Given the description of an element on the screen output the (x, y) to click on. 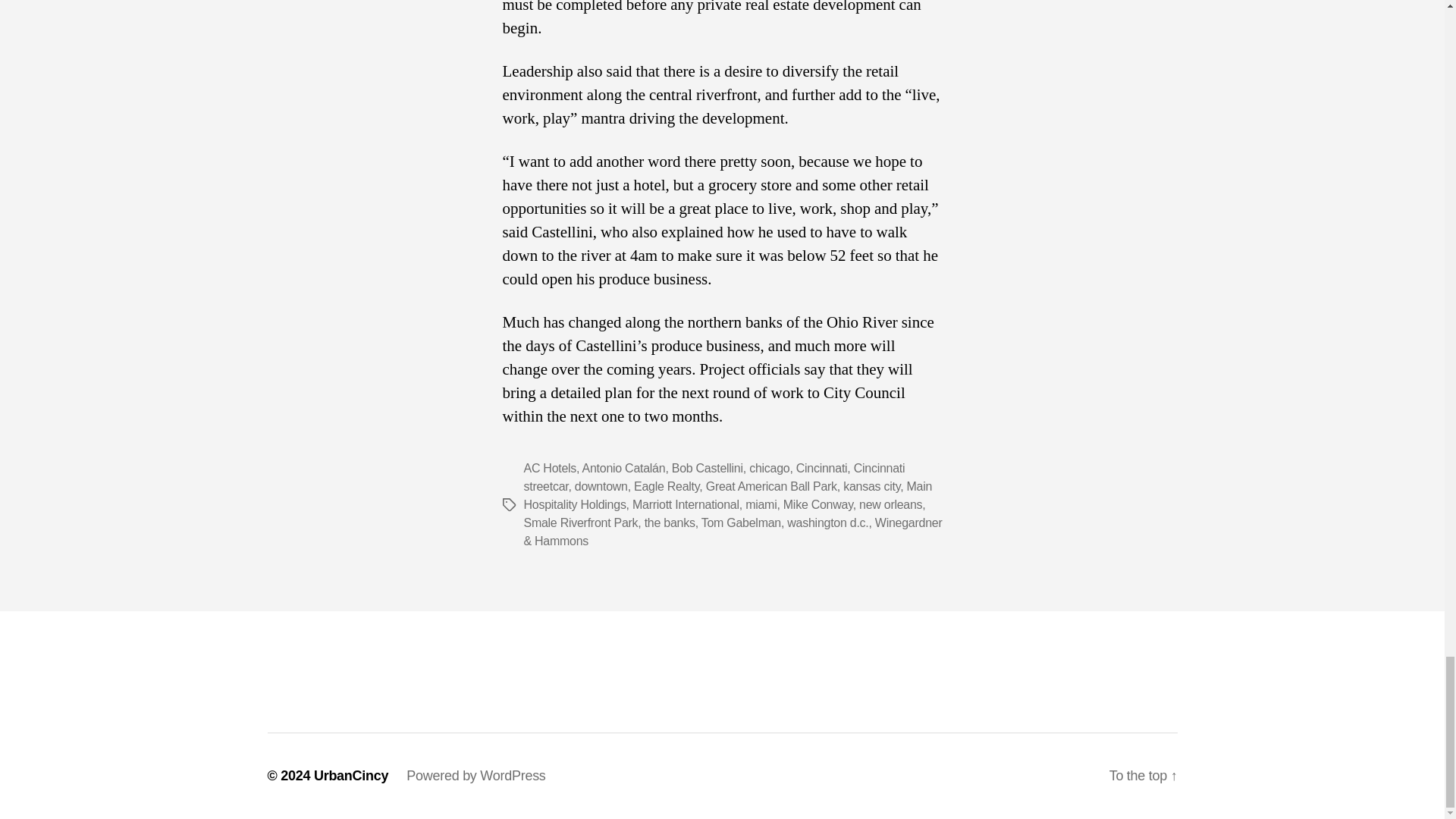
Cincinnati streetcar (713, 477)
chicago (769, 468)
AC Hotels (549, 468)
Cincinnati (821, 468)
Bob Castellini (706, 468)
